Given the description of an element on the screen output the (x, y) to click on. 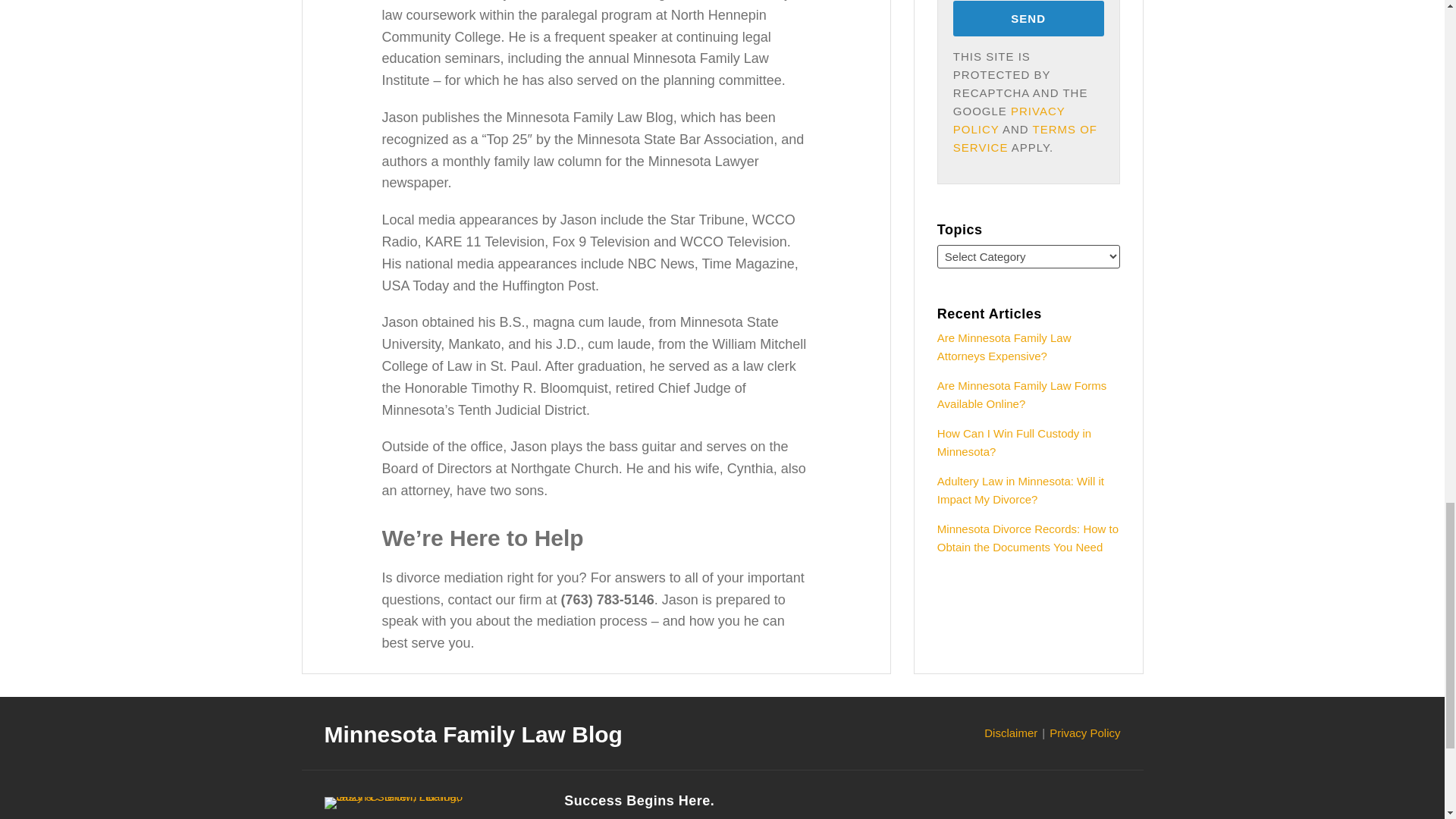
TERMS OF SERVICE (1025, 137)
Minnesota Family Law Blog (473, 733)
Are Minnesota Family Law Attorneys Expensive? (1004, 346)
Disclaimer (1010, 732)
Send (1028, 18)
Privacy Policy (1084, 732)
Send (1028, 18)
How Can I Win Full Custody in Minnesota? (1013, 441)
Are Minnesota Family Law Forms Available Online? (1021, 394)
PRIVACY POLICY (1009, 119)
Adultery Law in Minnesota: Will it Impact My Divorce? (1020, 490)
